Given the description of an element on the screen output the (x, y) to click on. 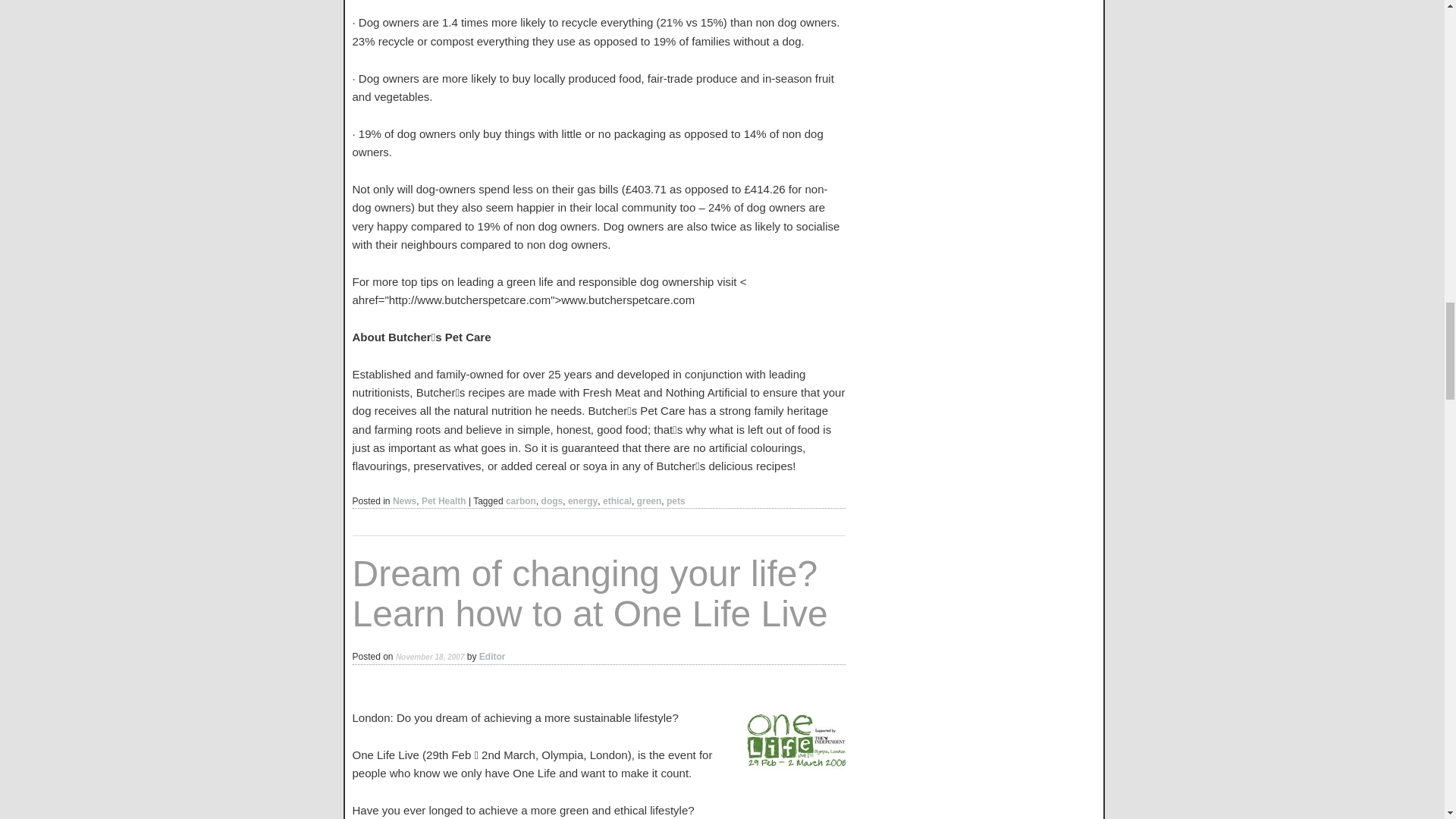
View all posts by Editor (492, 656)
10:03 am (430, 656)
